Given the description of an element on the screen output the (x, y) to click on. 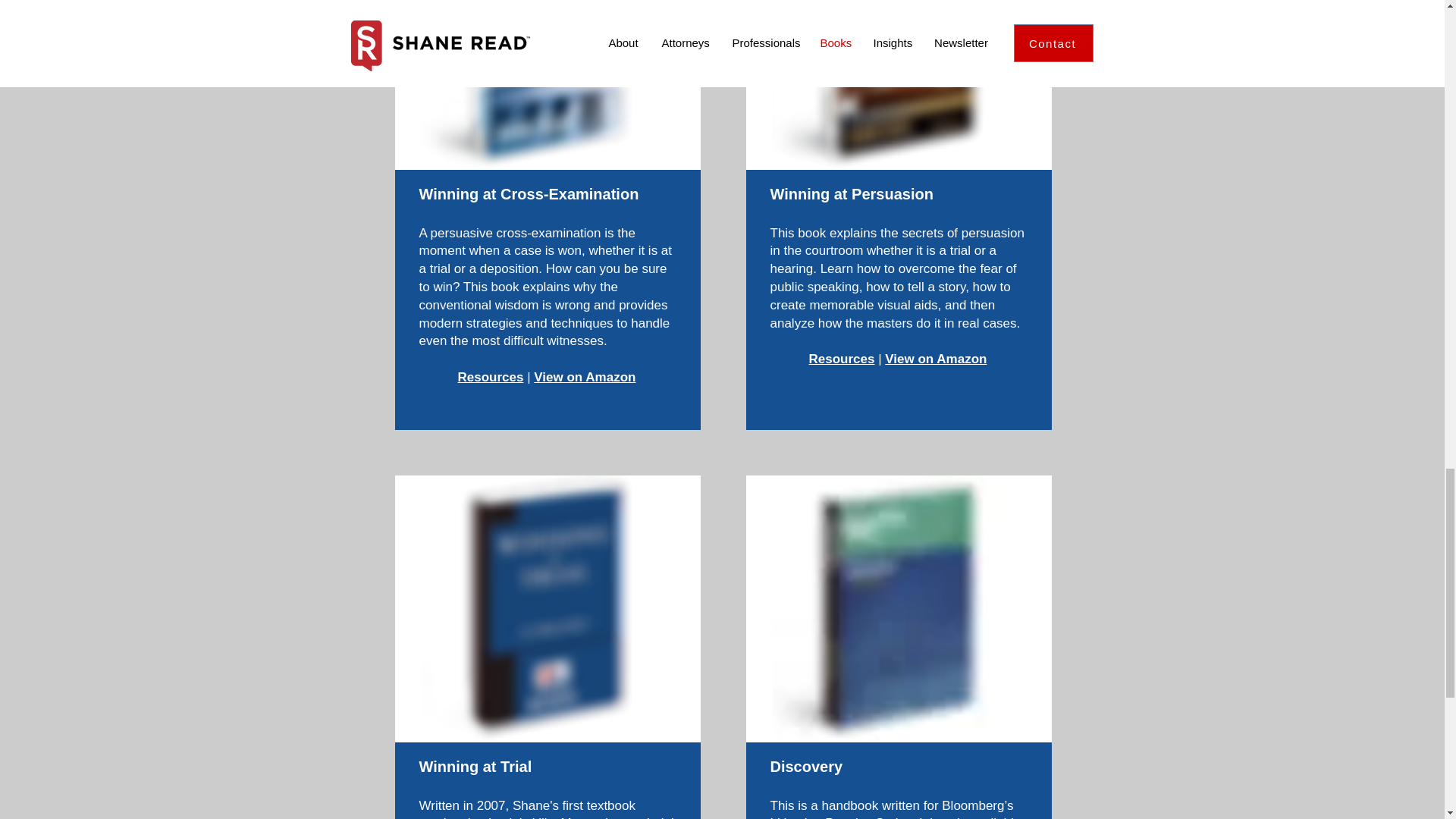
Resources (491, 377)
Resources (842, 359)
View on Amazon (936, 359)
View on Amazon (584, 377)
